Given the description of an element on the screen output the (x, y) to click on. 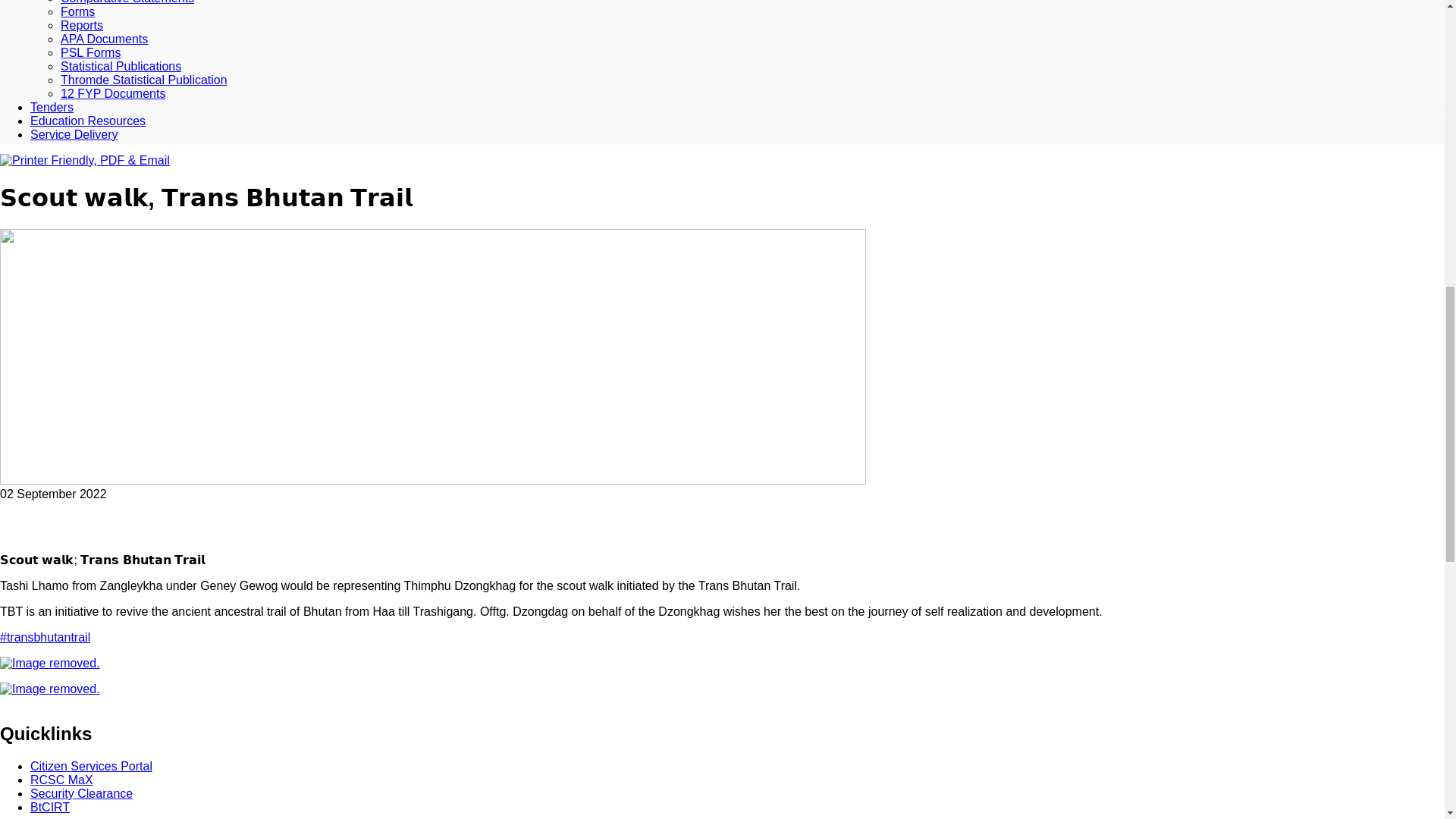
Dzongkhag Service Delivery (73, 133)
Priority Lending Sector forms (90, 51)
